Given the description of an element on the screen output the (x, y) to click on. 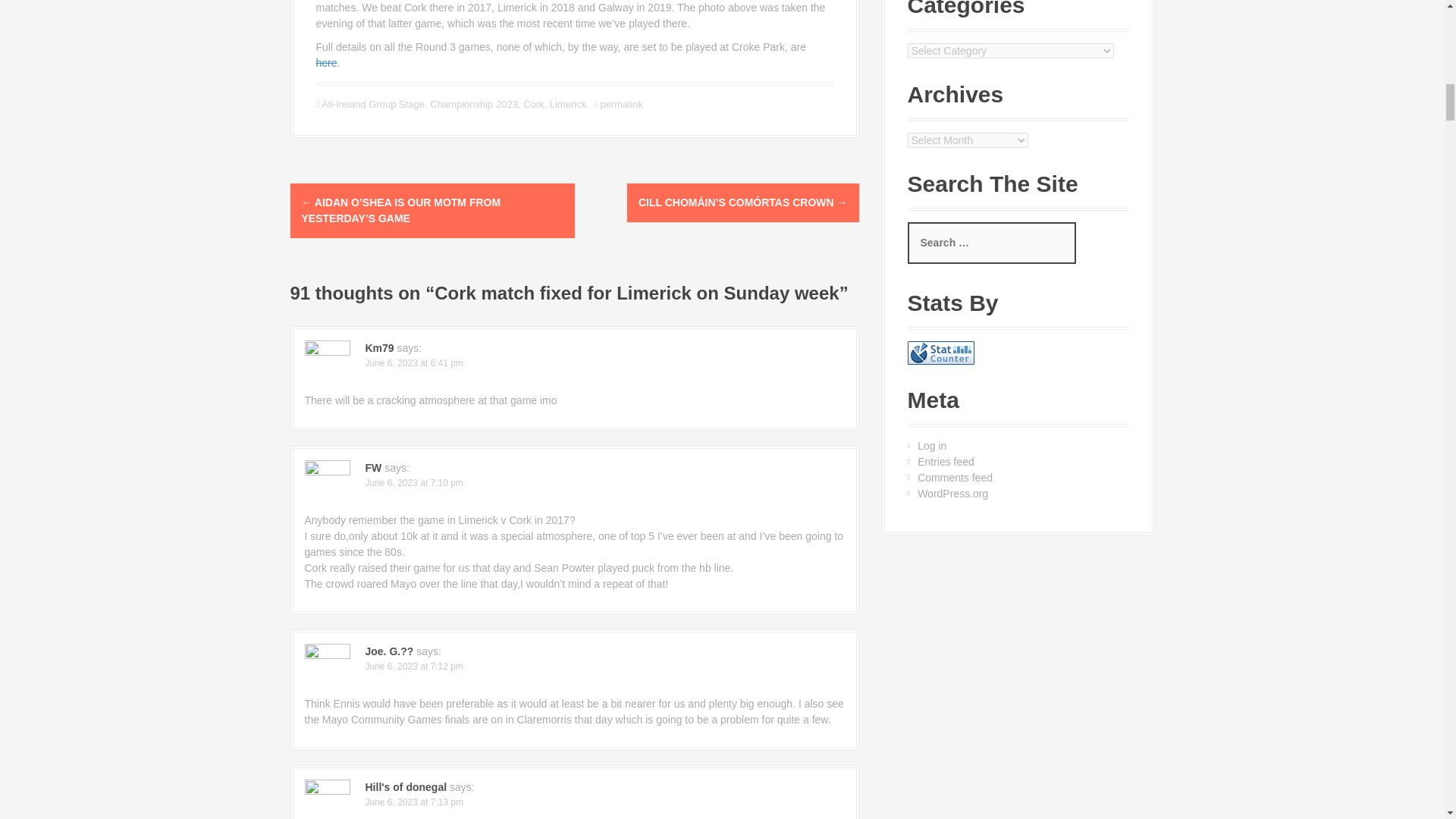
All-Ireland Group Stage (373, 103)
Limerick (568, 103)
June 6, 2023 at 7:12 pm (414, 665)
permalink (619, 103)
Championship 2023 (473, 103)
Search for: (991, 242)
June 6, 2023 at 7:13 pm (414, 801)
June 6, 2023 at 7:10 pm (414, 482)
June 6, 2023 at 6:41 pm (414, 362)
here (325, 62)
Cork (532, 103)
